Given the description of an element on the screen output the (x, y) to click on. 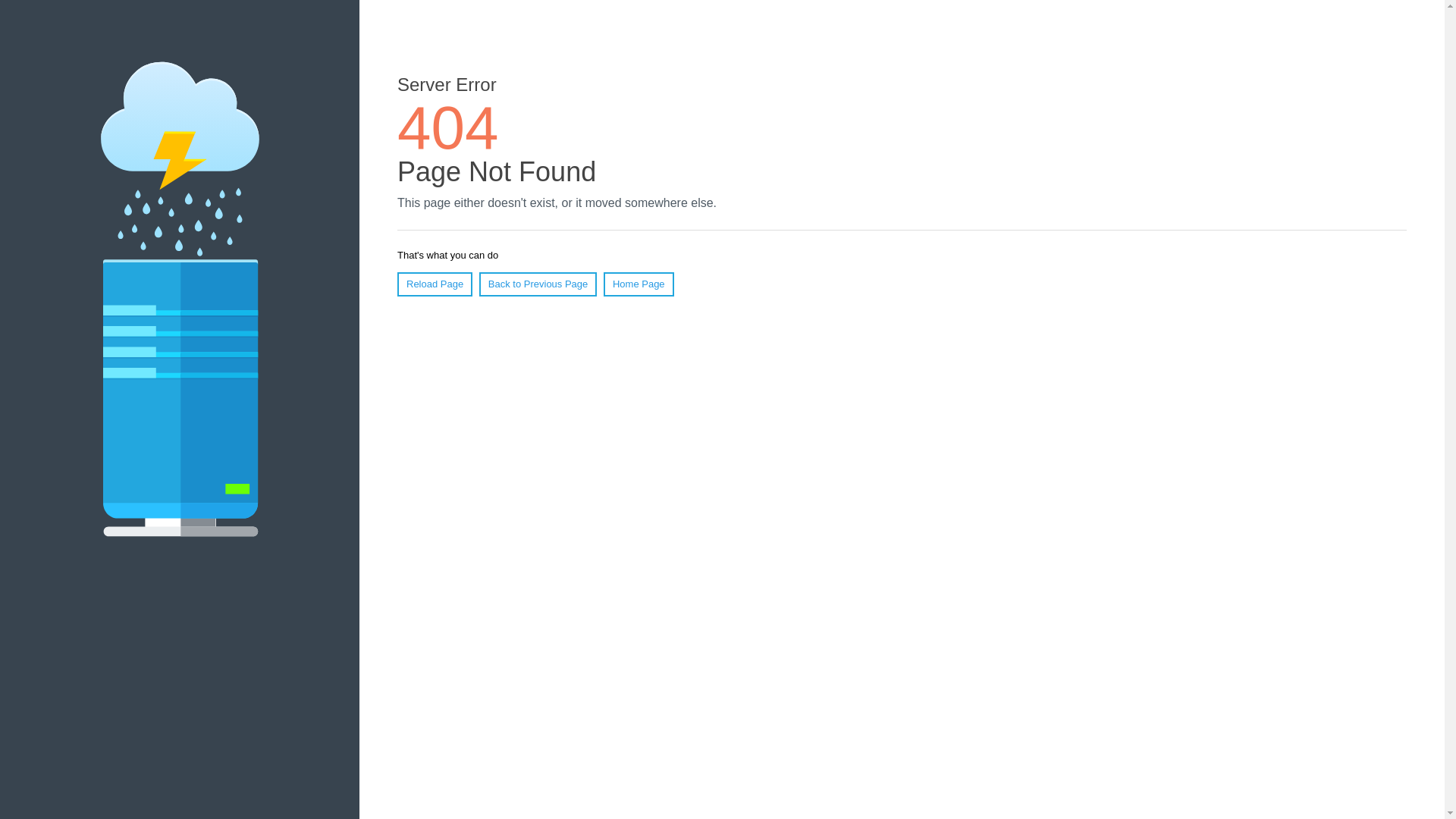
Reload Page Element type: text (434, 284)
Home Page Element type: text (638, 284)
Back to Previous Page Element type: text (538, 284)
